Given the description of an element on the screen output the (x, y) to click on. 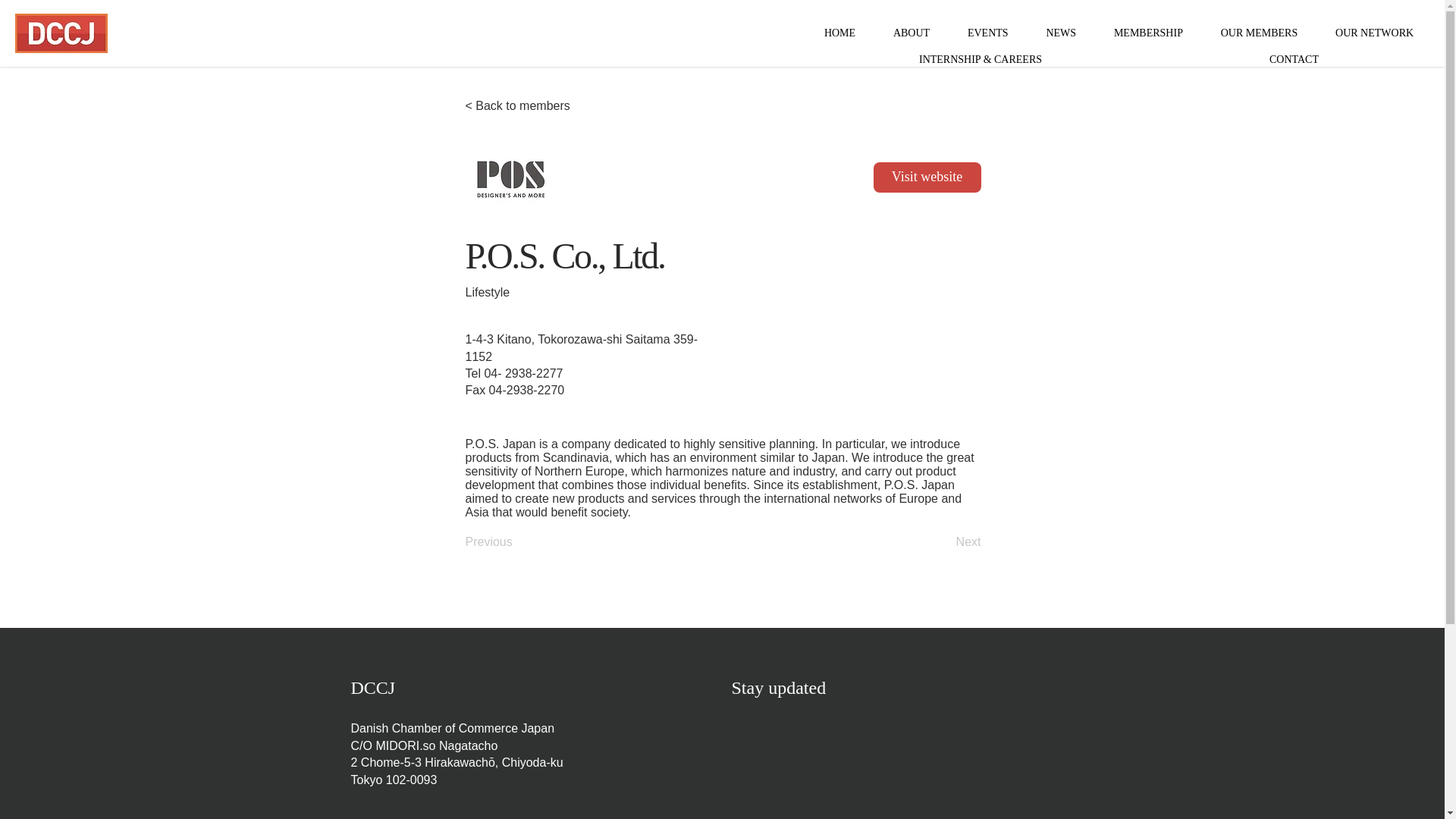
POS.jpg (511, 176)
Visit website (927, 177)
ABOUT (910, 32)
NEWS (1061, 32)
Previous (515, 542)
OUR MEMBERS (1259, 32)
HOME (839, 32)
EVENTS (987, 32)
Next (943, 542)
MEMBERSHIP (1147, 32)
